Given the description of an element on the screen output the (x, y) to click on. 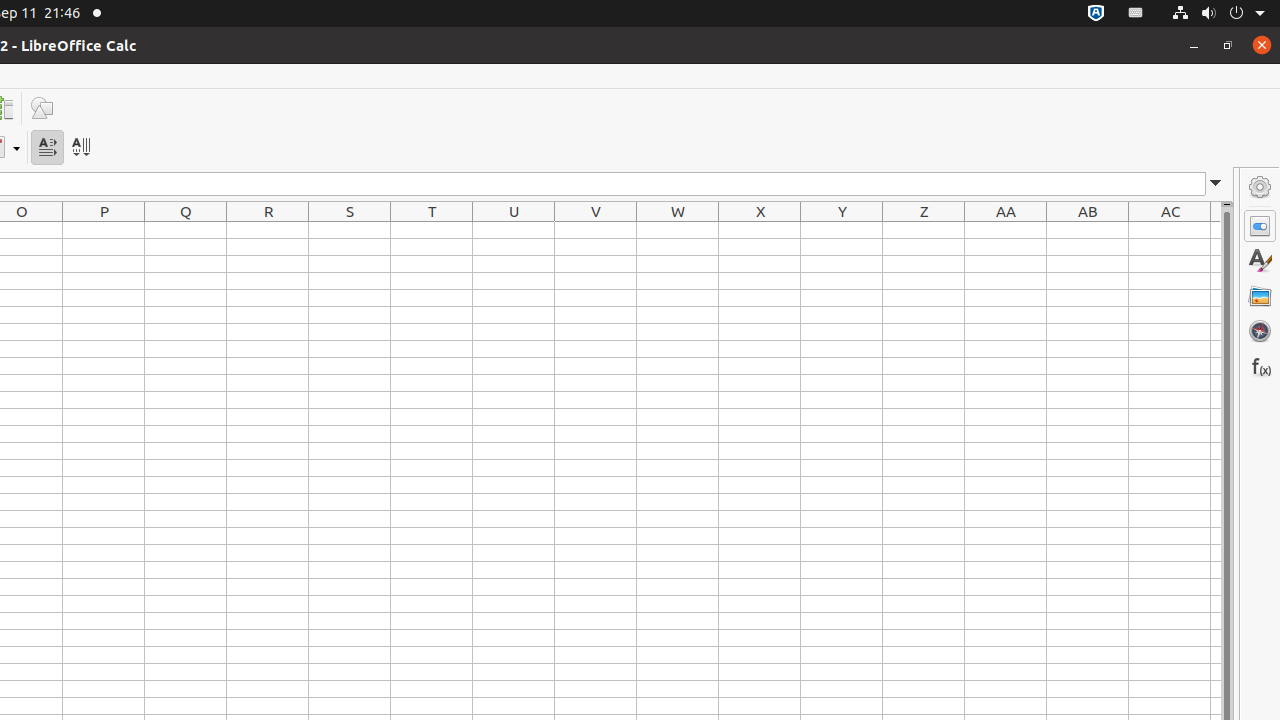
Functions Element type: radio-button (1260, 366)
Text direction from left to right Element type: toggle-button (47, 147)
